Given the description of an element on the screen output the (x, y) to click on. 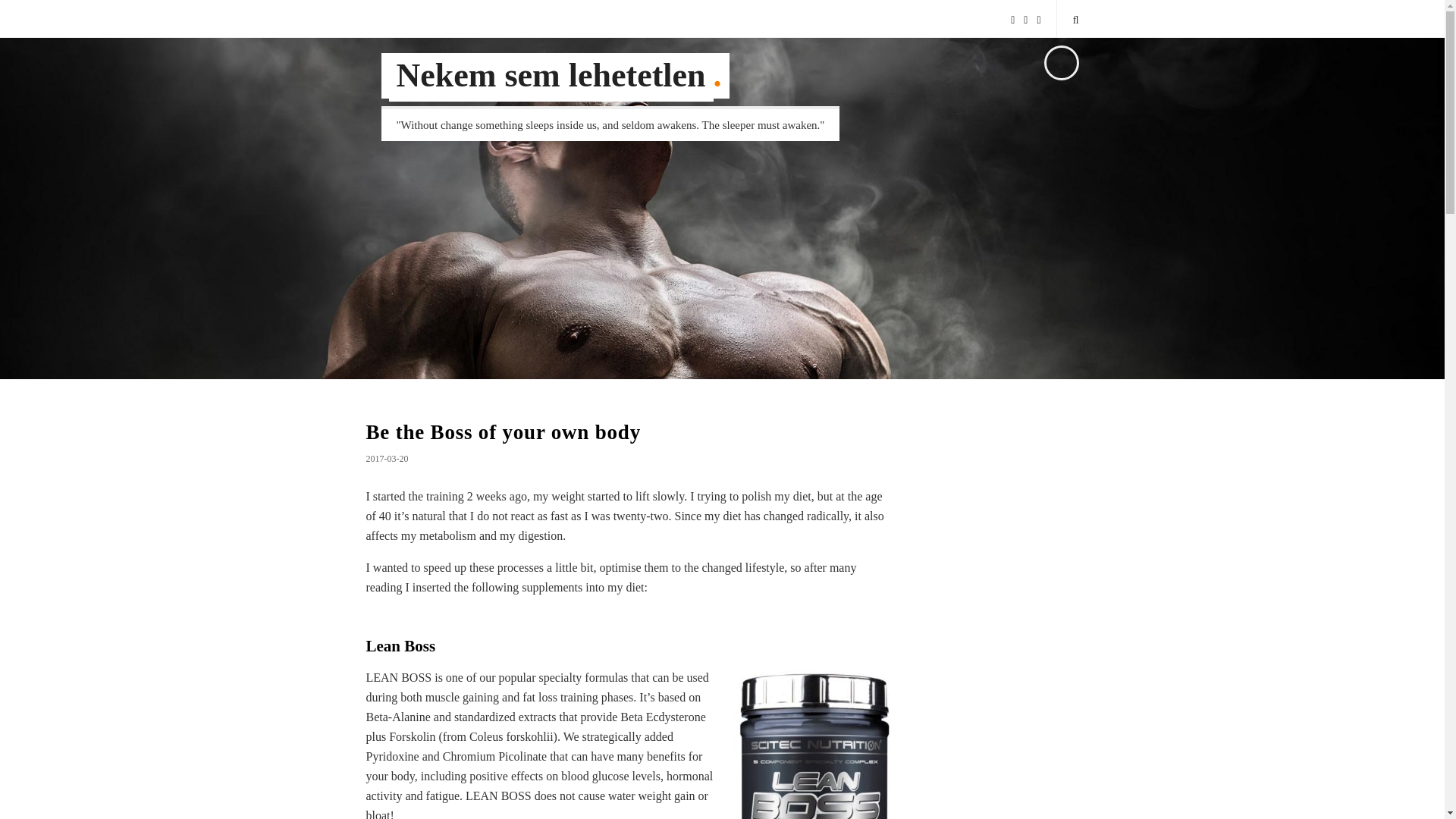
Nekem sem lehetetlen (550, 77)
Nekem sem lehetetlen (550, 77)
